Given the description of an element on the screen output the (x, y) to click on. 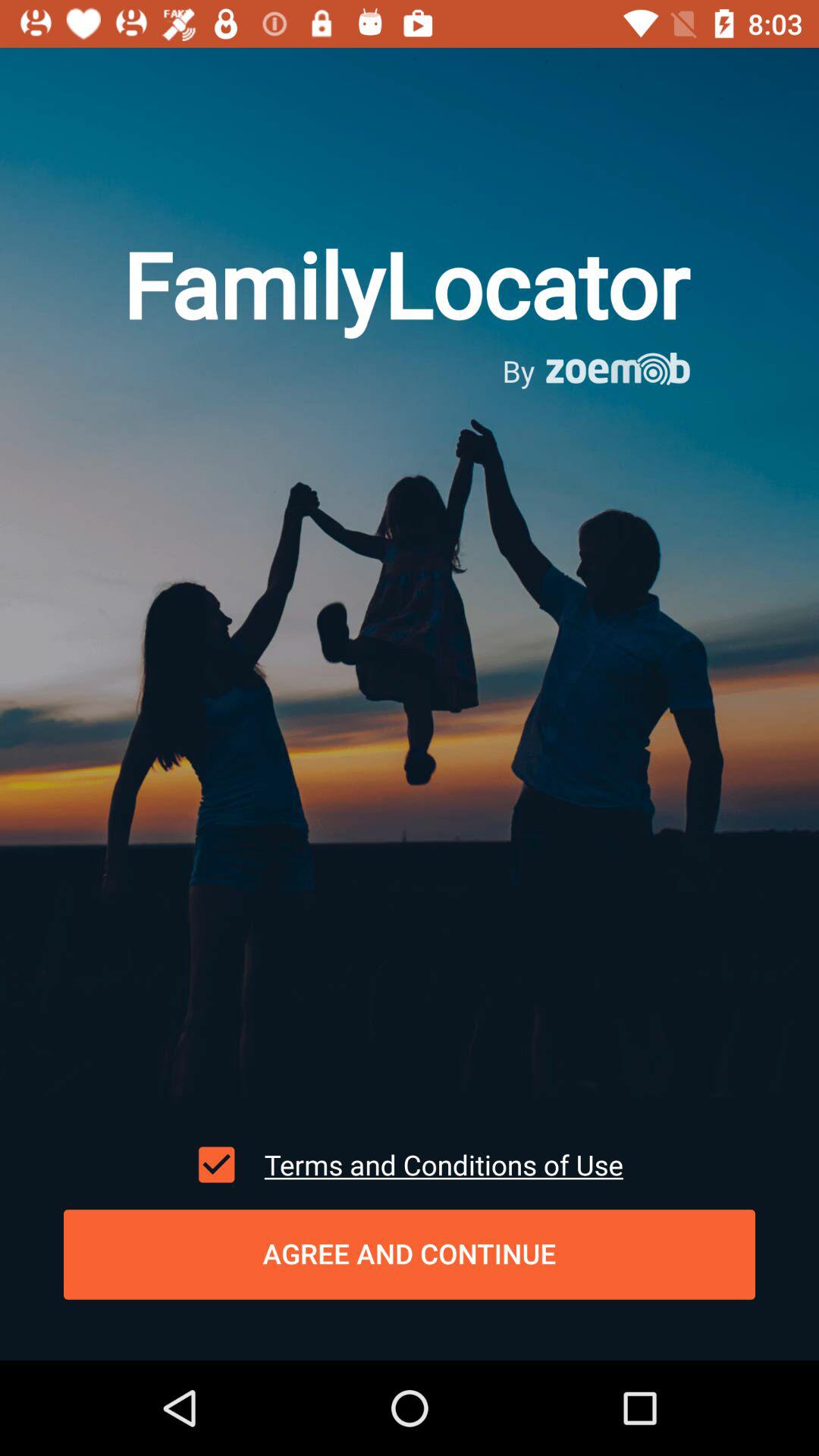
launch agree and continue item (409, 1254)
